Given the description of an element on the screen output the (x, y) to click on. 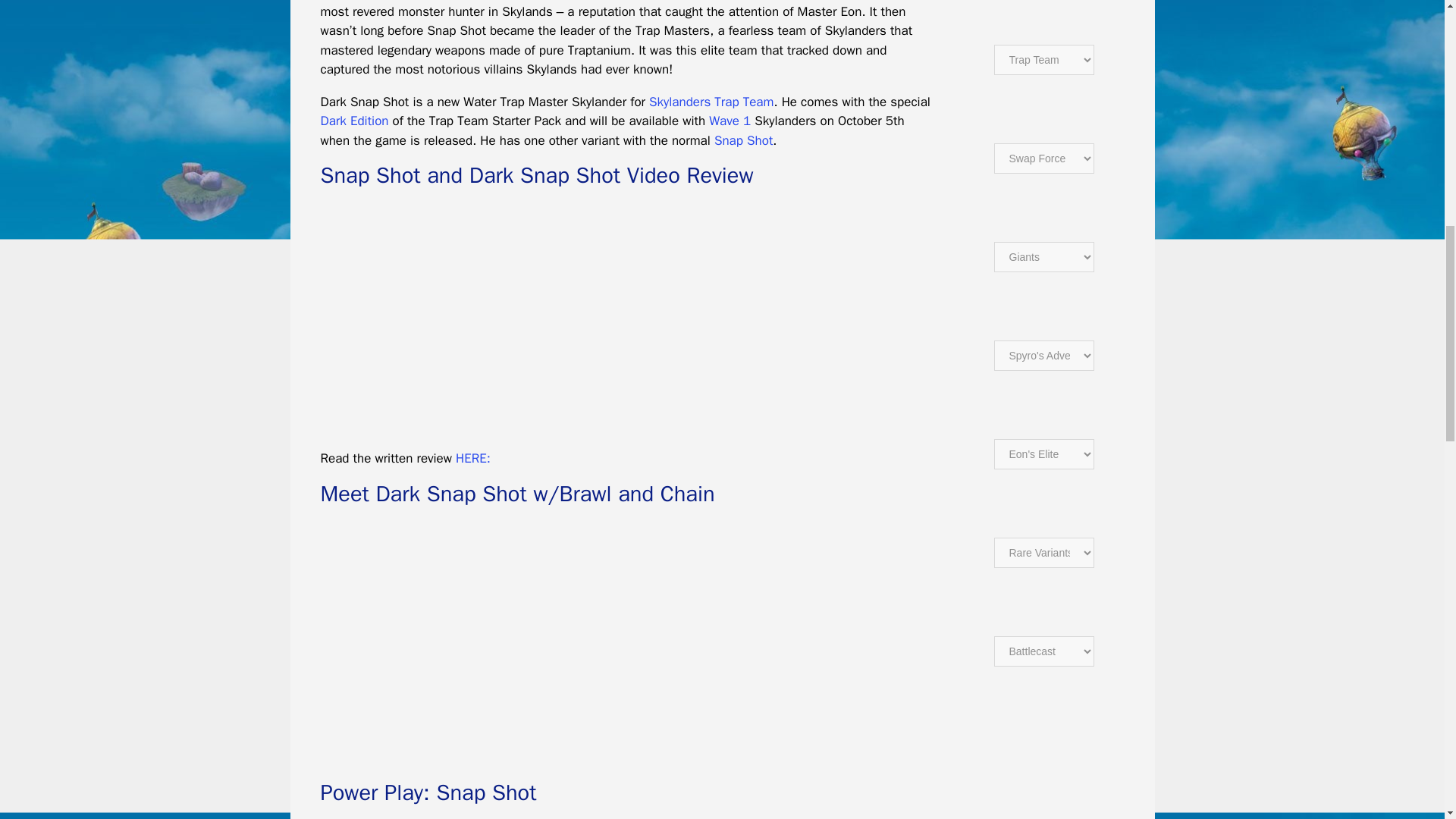
Trap Team Wave 1 Skylanders (730, 120)
Snap Shot (743, 140)
Trap Team (711, 101)
Trap Team (354, 120)
